Given the description of an element on the screen output the (x, y) to click on. 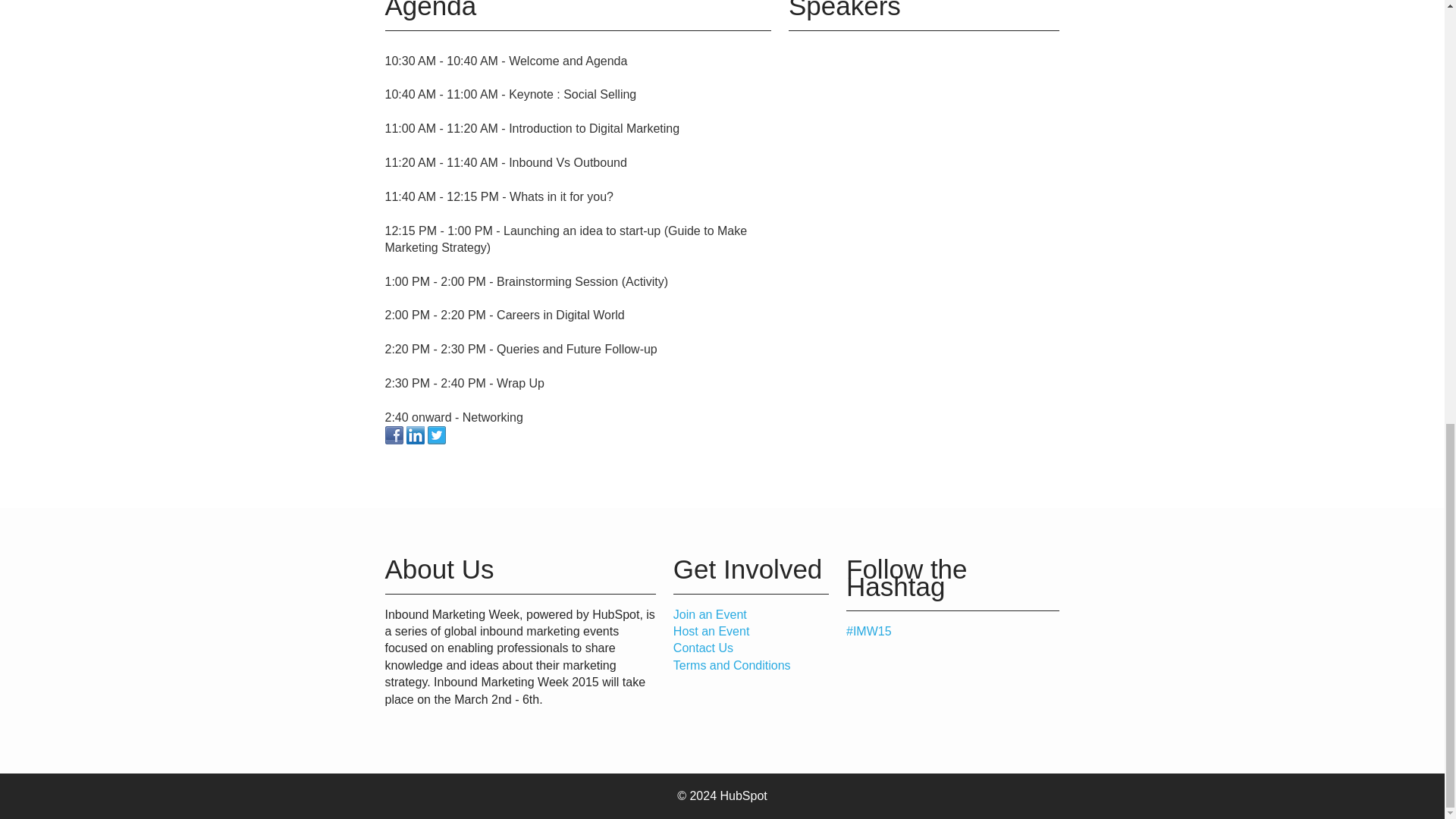
Terms and Conditions (731, 665)
Join an Event (709, 614)
Contact Us (702, 647)
Host an Event (710, 631)
